Given the description of an element on the screen output the (x, y) to click on. 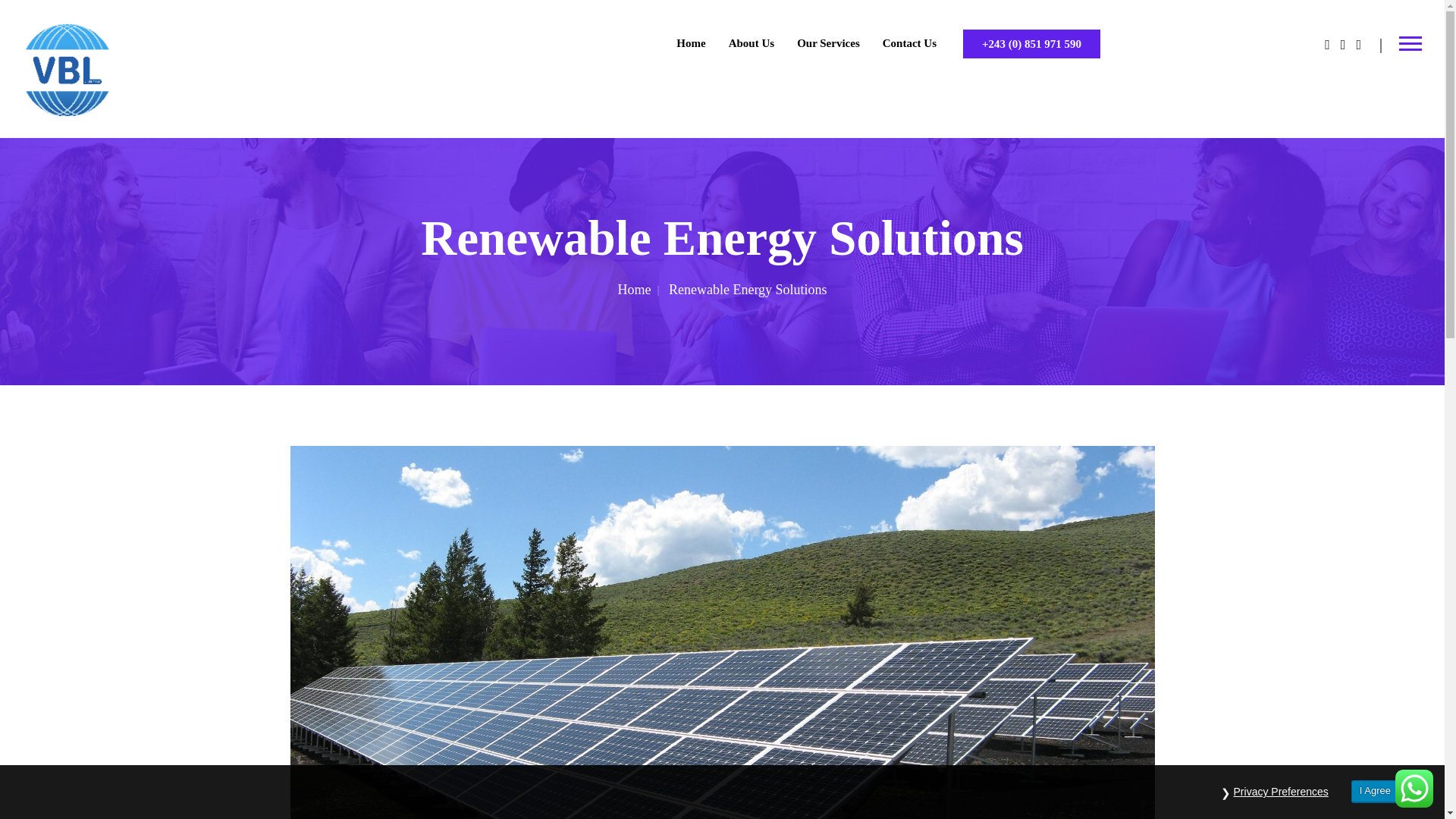
I Agree (1375, 791)
Our Services (828, 43)
Contact Us (908, 43)
Privacy Preferences (1280, 791)
Home (639, 289)
